Given the description of an element on the screen output the (x, y) to click on. 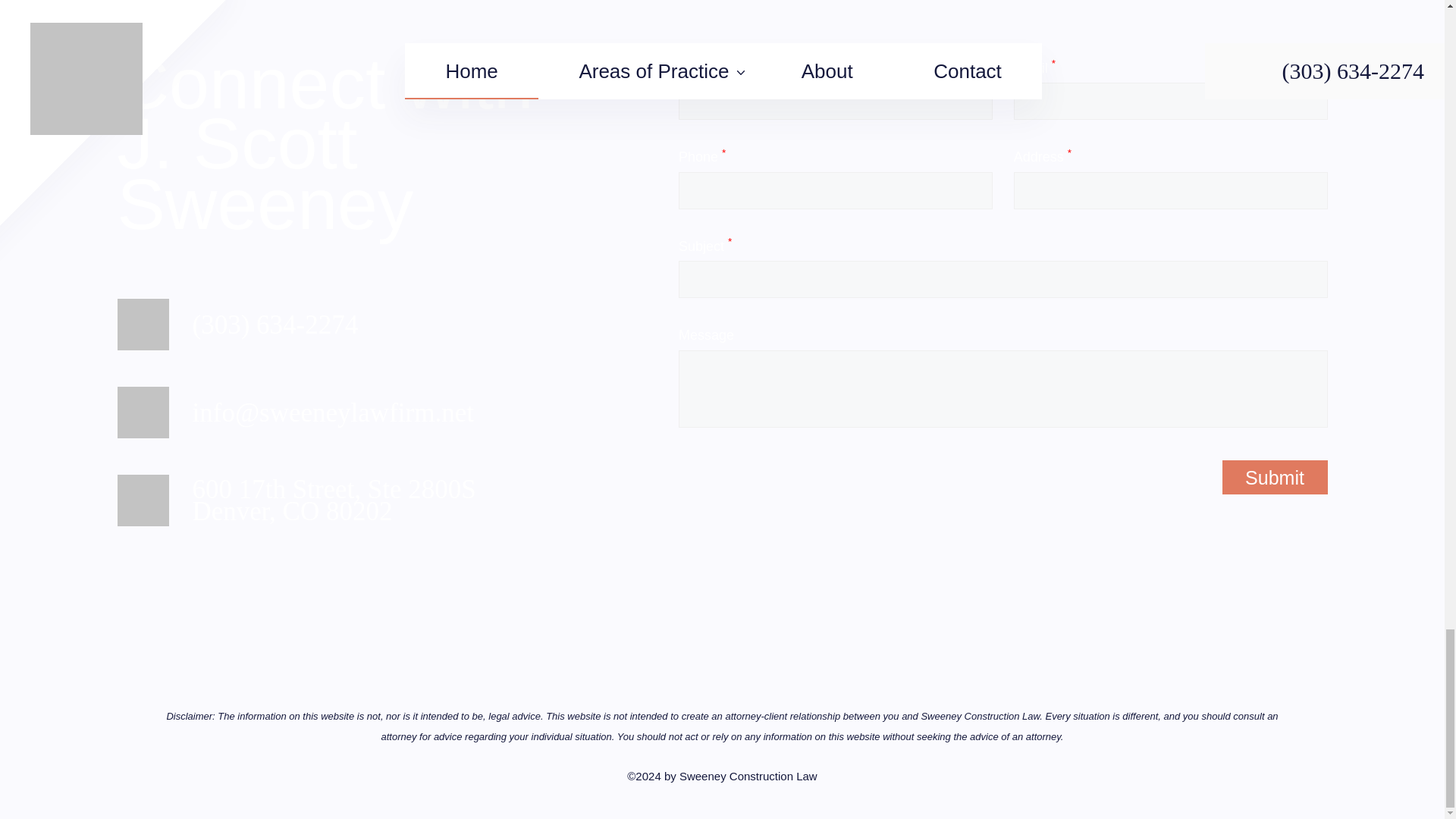
address-icon (142, 500)
Submit (1275, 477)
Sweeney Construction Law (334, 500)
Submit (747, 775)
phone-icon (1275, 477)
email-icon (142, 324)
